Given the description of an element on the screen output the (x, y) to click on. 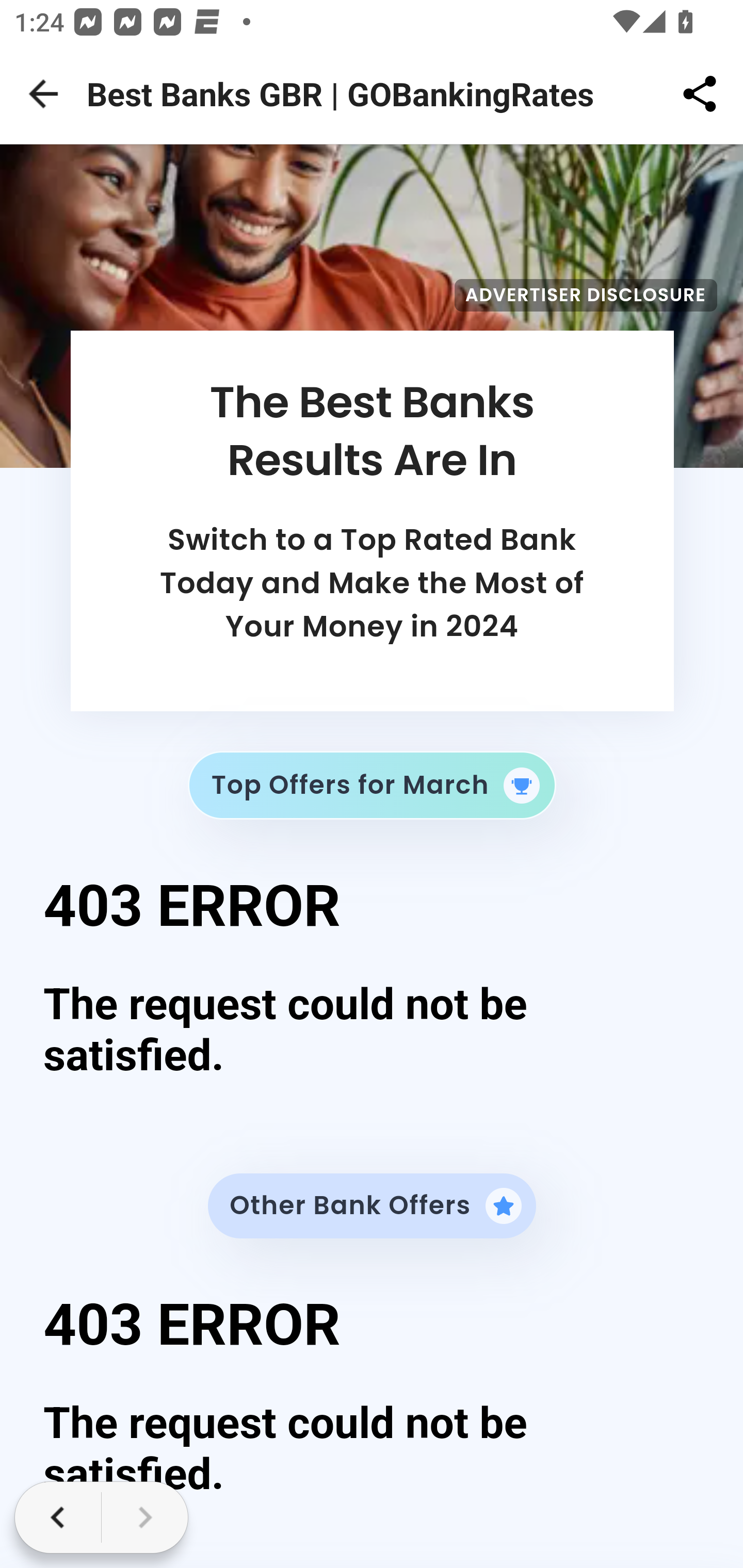
ADVERTISER DISCLOSURE (585, 294)
